Given the description of an element on the screen output the (x, y) to click on. 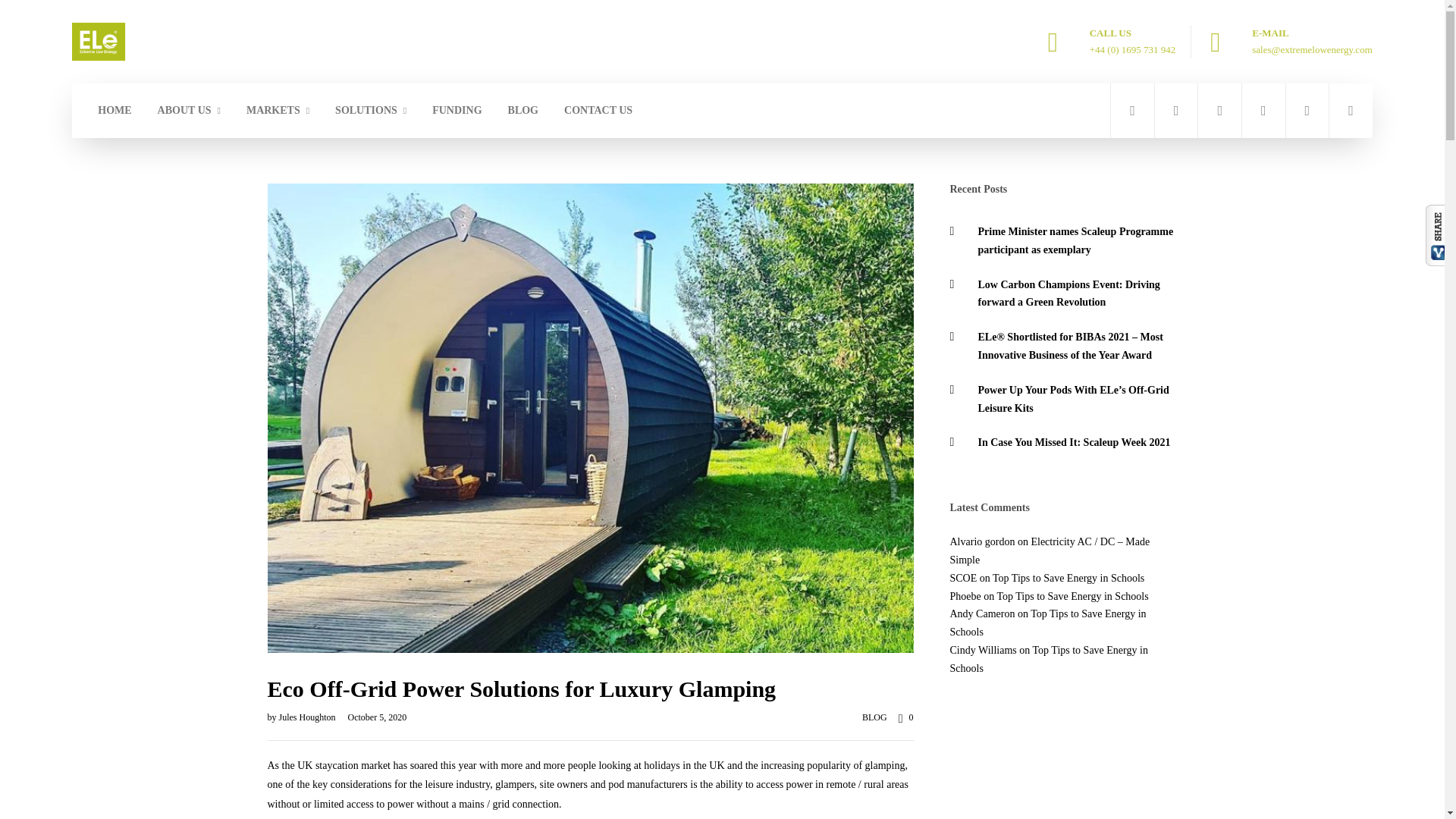
ABOUT US (189, 110)
